Given the description of an element on the screen output the (x, y) to click on. 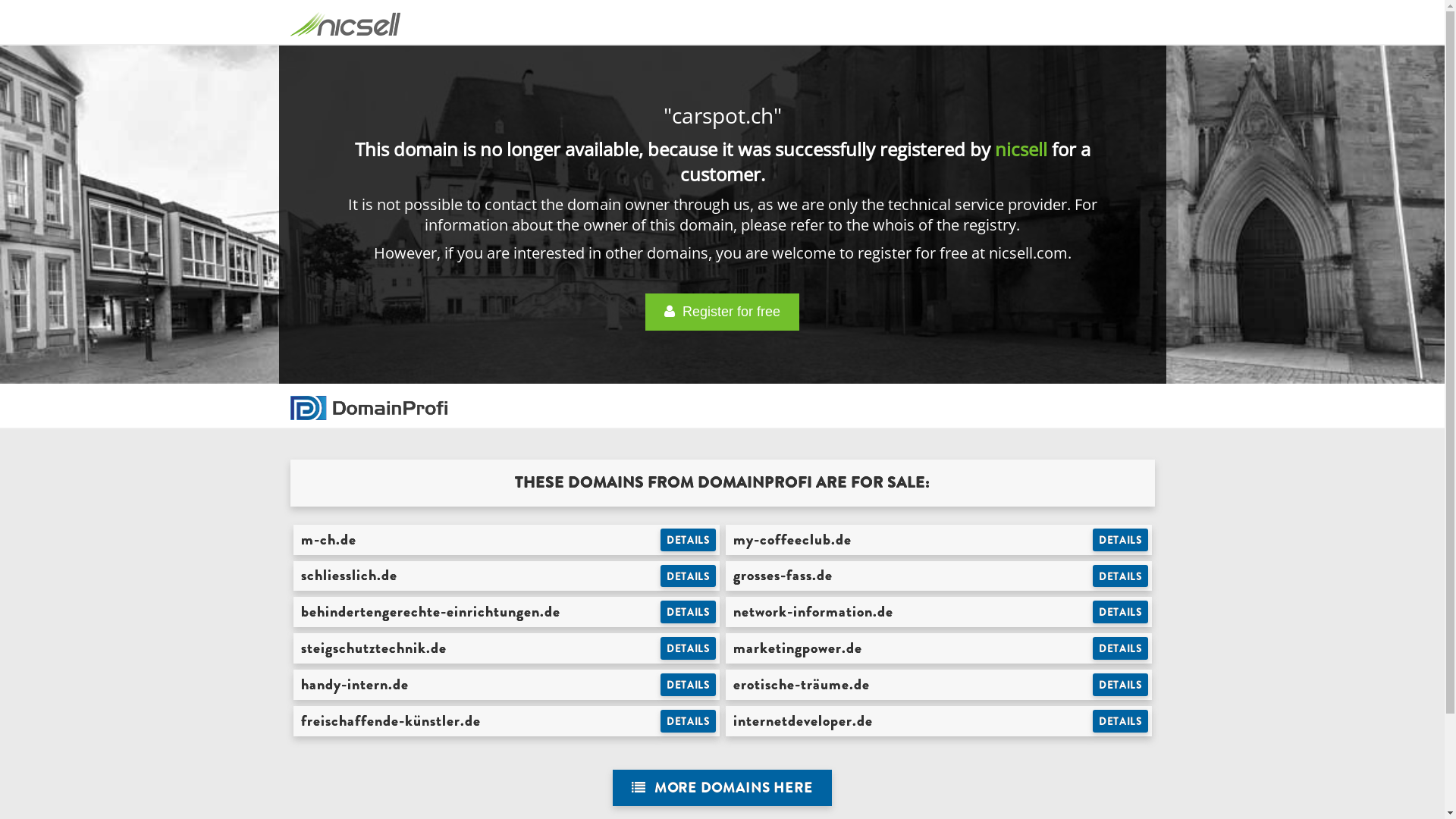
DETAILS Element type: text (1120, 648)
DETAILS Element type: text (1120, 720)
DETAILS Element type: text (1120, 684)
DETAILS Element type: text (687, 611)
DETAILS Element type: text (1120, 611)
  MORE DOMAINS HERE Element type: text (721, 787)
DETAILS Element type: text (1120, 575)
DETAILS Element type: text (1120, 539)
DETAILS Element type: text (687, 575)
DETAILS Element type: text (687, 539)
DETAILS Element type: text (687, 648)
DETAILS Element type: text (687, 684)
nicsell Element type: text (1020, 148)
  Register for free Element type: text (722, 311)
DETAILS Element type: text (687, 720)
